Given the description of an element on the screen output the (x, y) to click on. 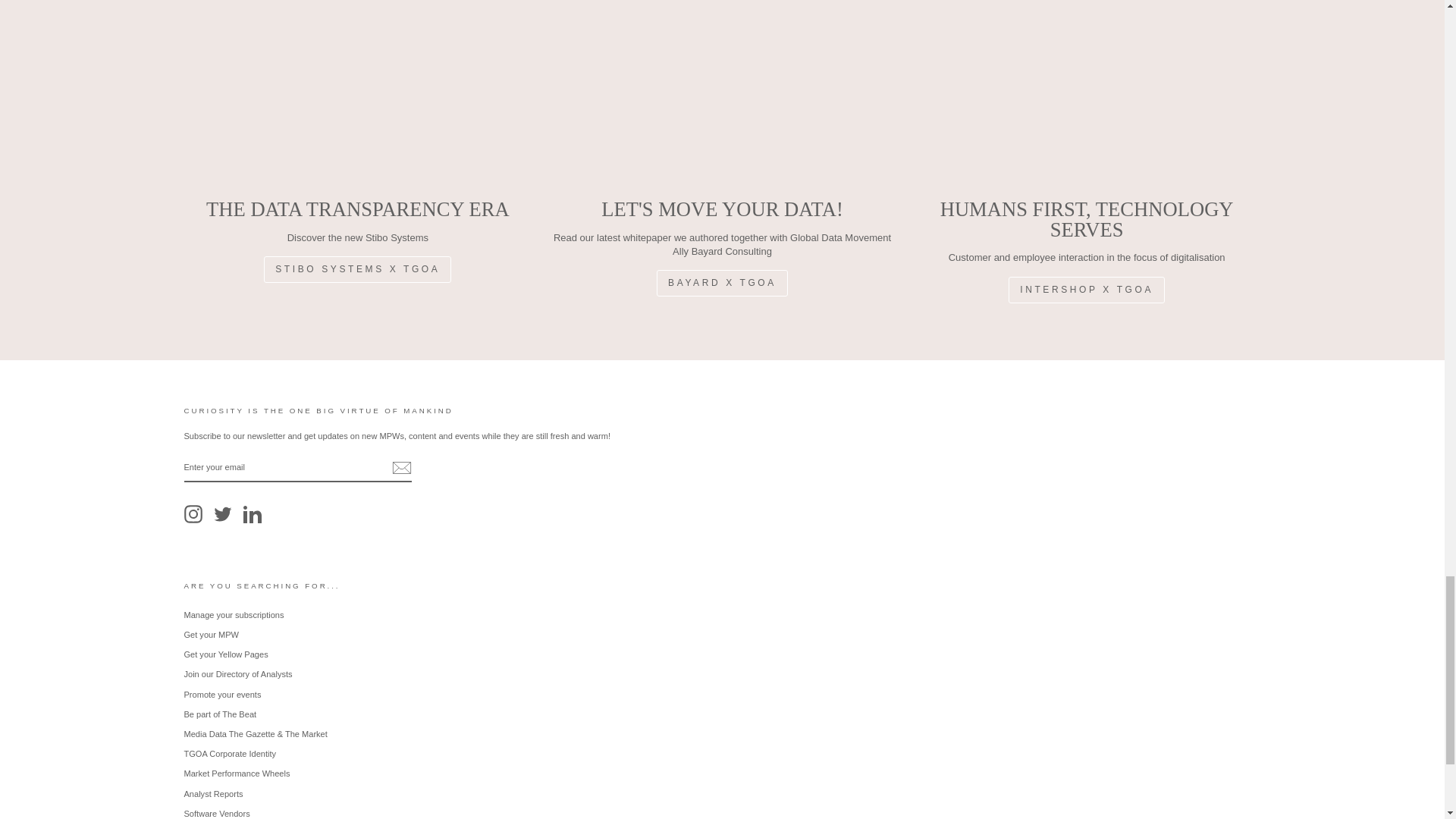
The Group of Analysts on Twitter (222, 514)
The Group of Analysts on Instagram (192, 514)
The Group of Analysts on LinkedIn (251, 514)
